Given the description of an element on the screen output the (x, y) to click on. 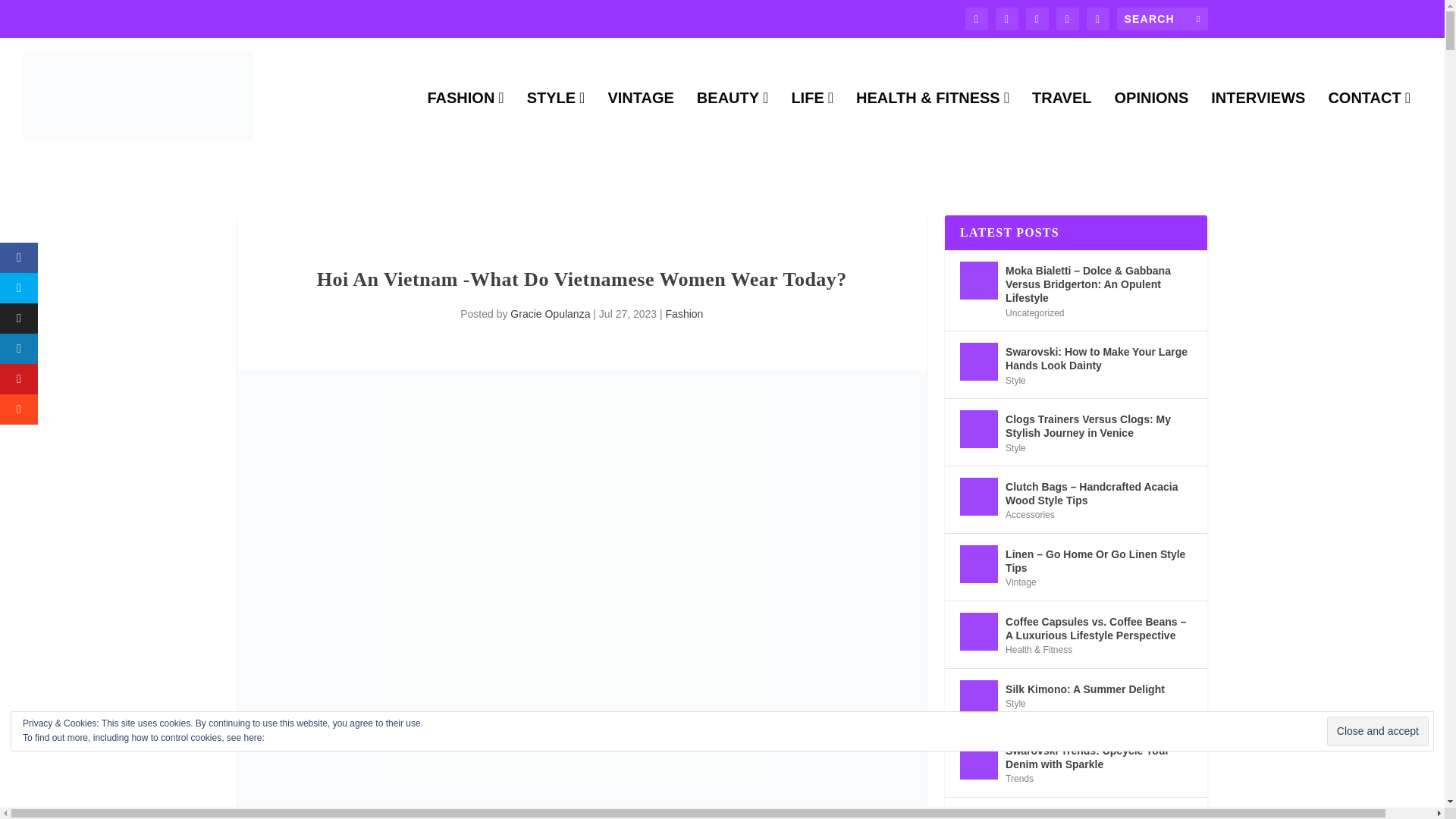
Posts by Gracie Opulanza (550, 313)
BEAUTY (732, 122)
Close and accept (1377, 731)
Search for: (1161, 18)
VINTAGE (639, 122)
Swarovski: How to Make Your Large Hands Look Dainty (978, 361)
STYLE (556, 122)
FASHION (464, 122)
Clogs Trainers Versus Clogs: My Stylish Journey in Venice (978, 428)
